Given the description of an element on the screen output the (x, y) to click on. 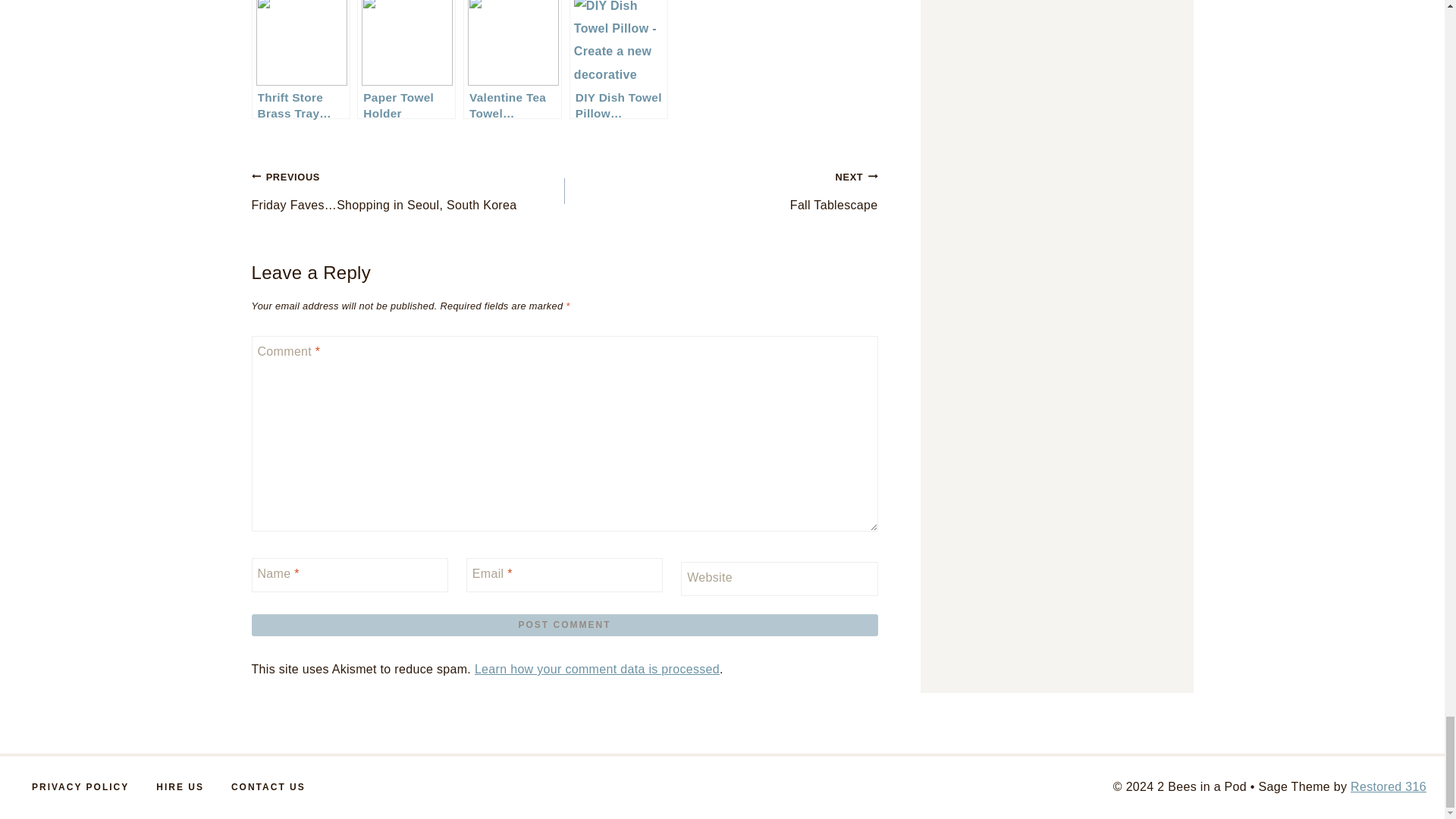
Paper Towel Holder (405, 59)
Post Comment (564, 625)
